Given the description of an element on the screen output the (x, y) to click on. 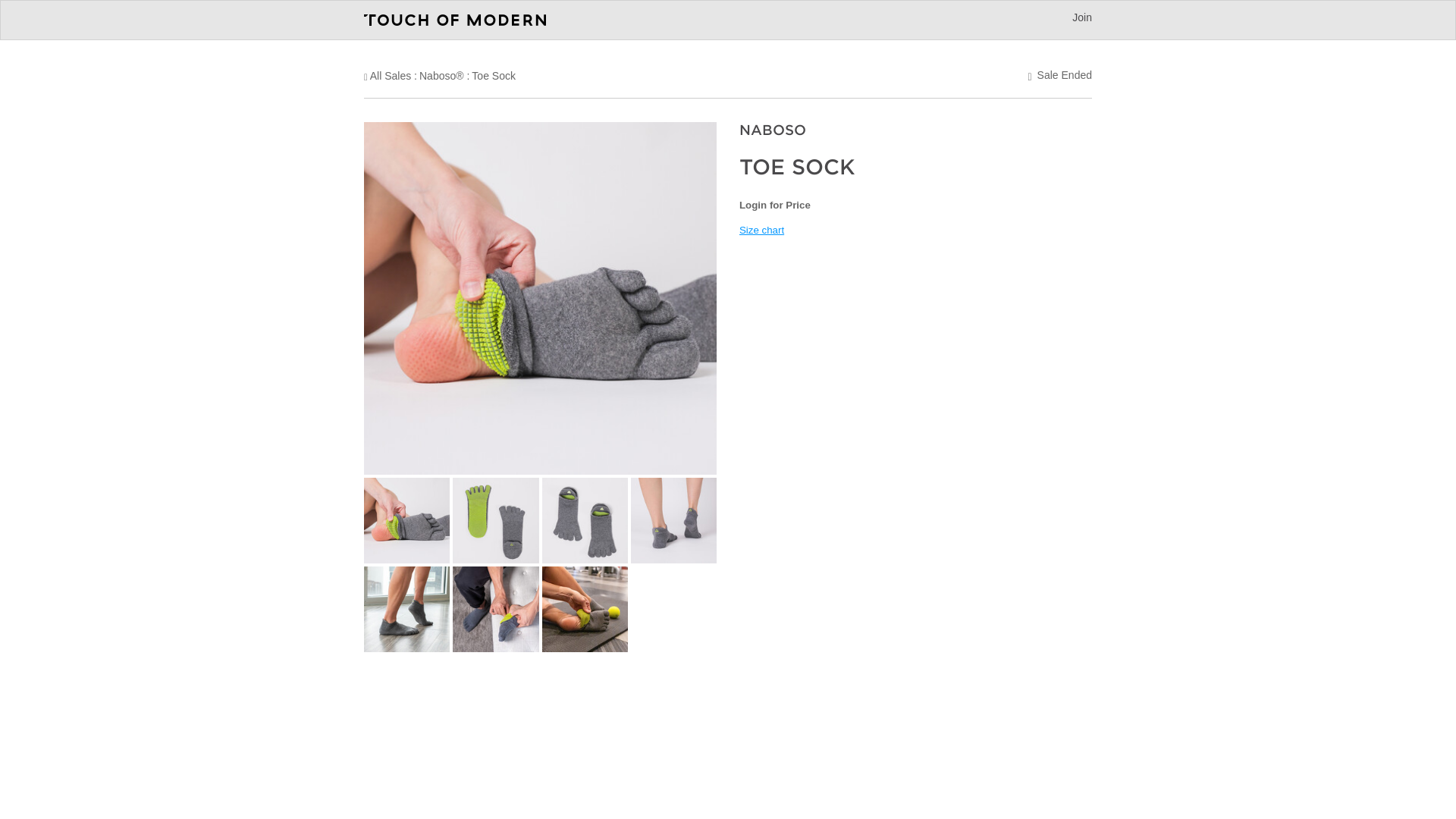
All Sales (389, 75)
Size chart (761, 229)
Join (1081, 17)
All Sales (389, 75)
